Given the description of an element on the screen output the (x, y) to click on. 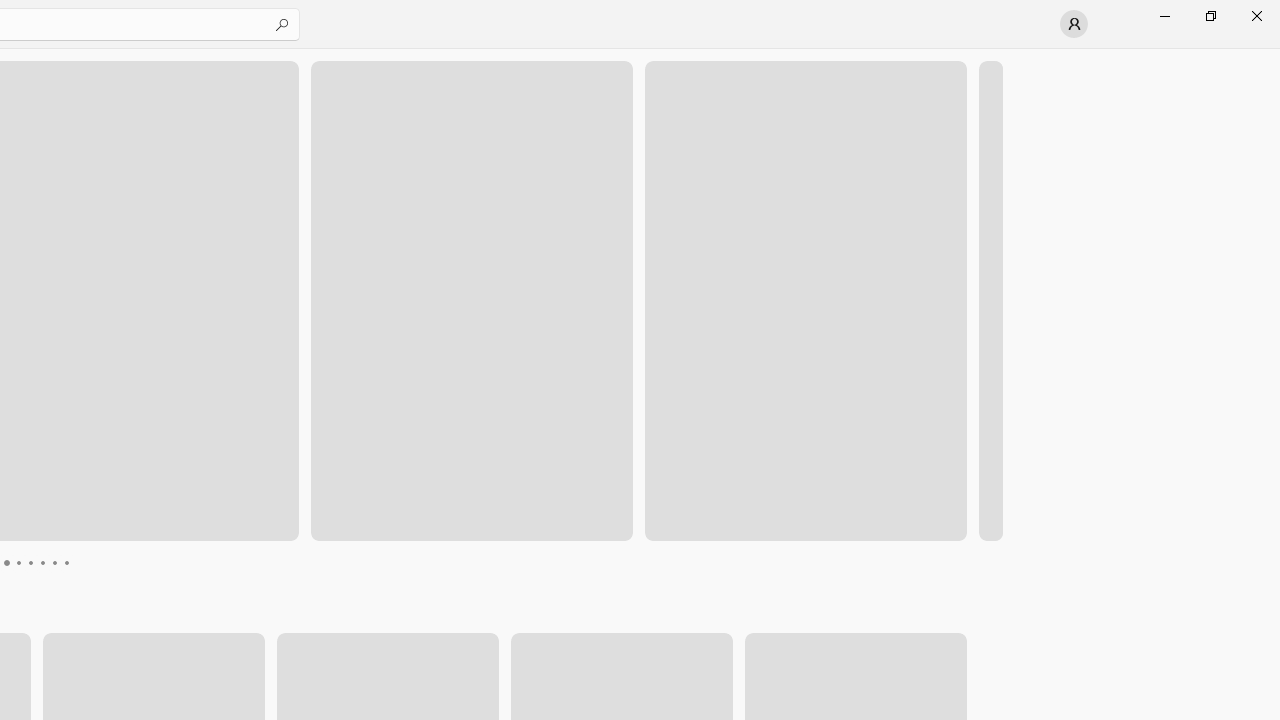
Casino (501, 619)
Platformer (952, 619)
Fighting (614, 619)
User profile (1073, 24)
AutomationID: LeftScrollButton (913, 673)
Page 10 (90, 562)
gamescom. See the best of the show.  . See details (76, 387)
Page 5 (29, 562)
Page 3 (5, 562)
Class: Button (947, 619)
Close Microsoft Store (1256, 15)
Card & Board (268, 619)
Minimize Microsoft Store (1164, 15)
Class: Image (961, 617)
